Given the description of an element on the screen output the (x, y) to click on. 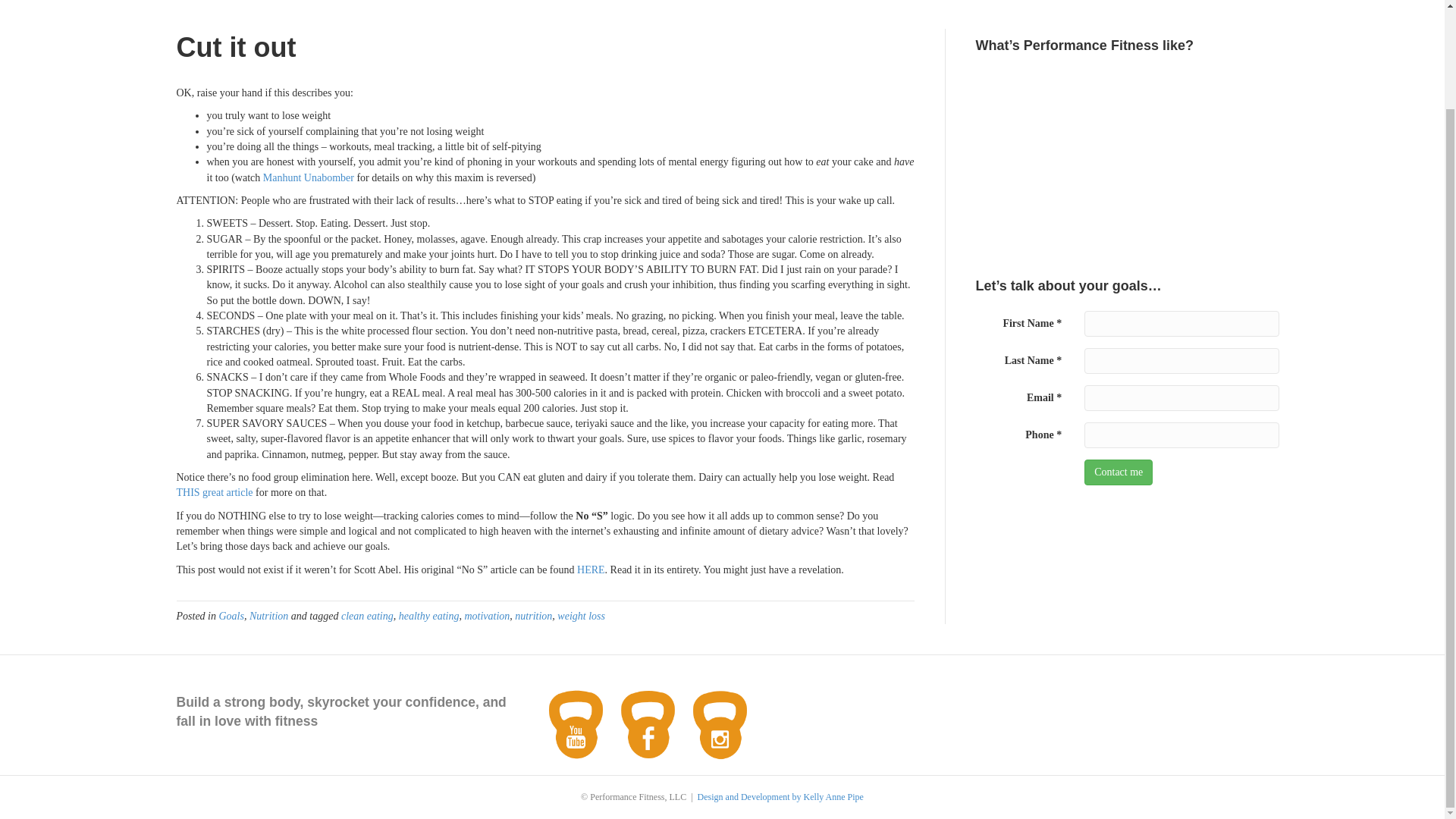
THIS great article (213, 491)
clean eating (366, 615)
Goals (230, 615)
HERE (590, 568)
weight loss (581, 615)
nutrition (533, 615)
Contact me (1118, 472)
healthy eating (429, 615)
Manhunt Unabomber (308, 177)
motivation (486, 615)
